Given the description of an element on the screen output the (x, y) to click on. 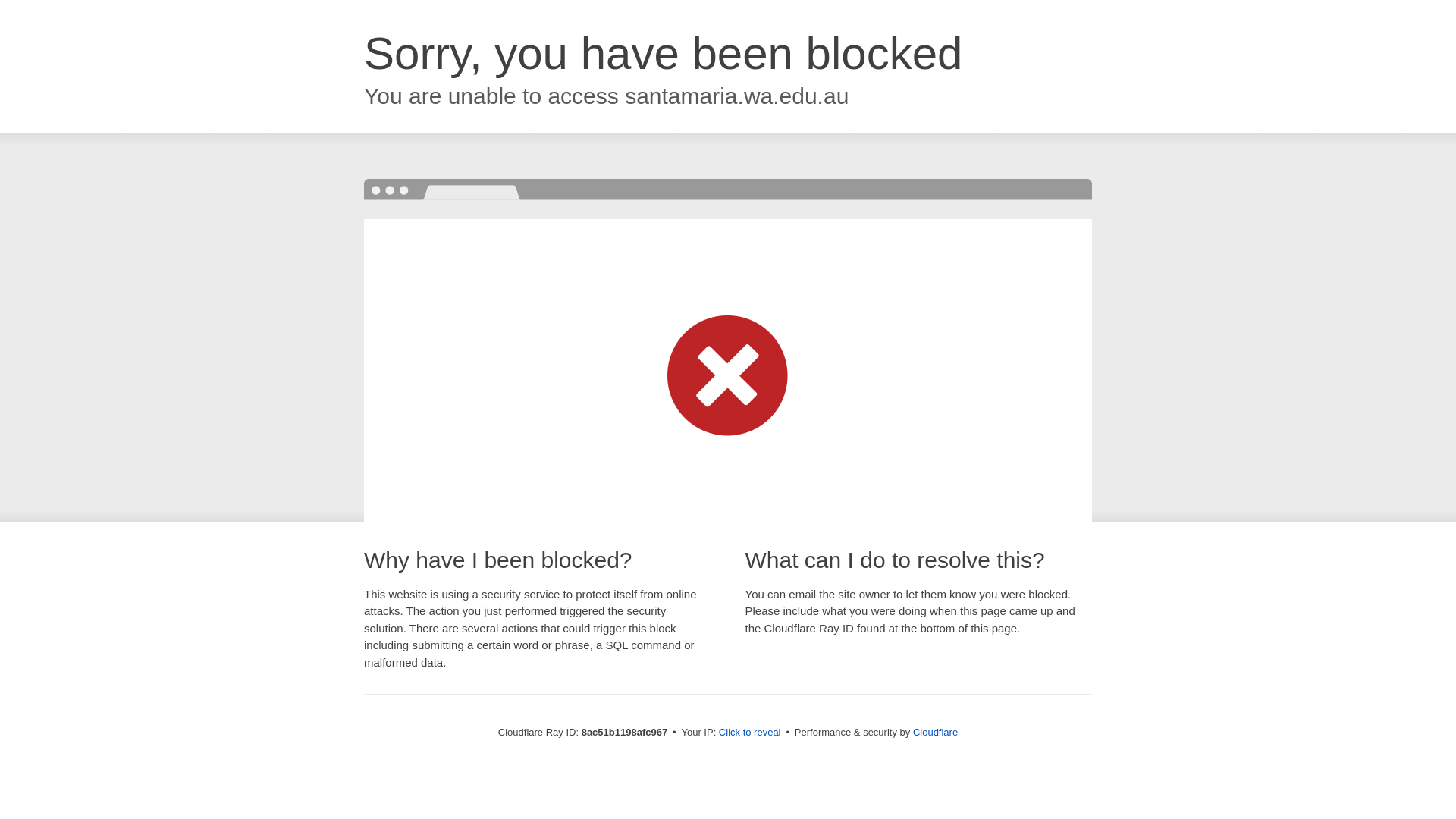
Click to reveal (749, 732)
Cloudflare (935, 731)
